Given the description of an element on the screen output the (x, y) to click on. 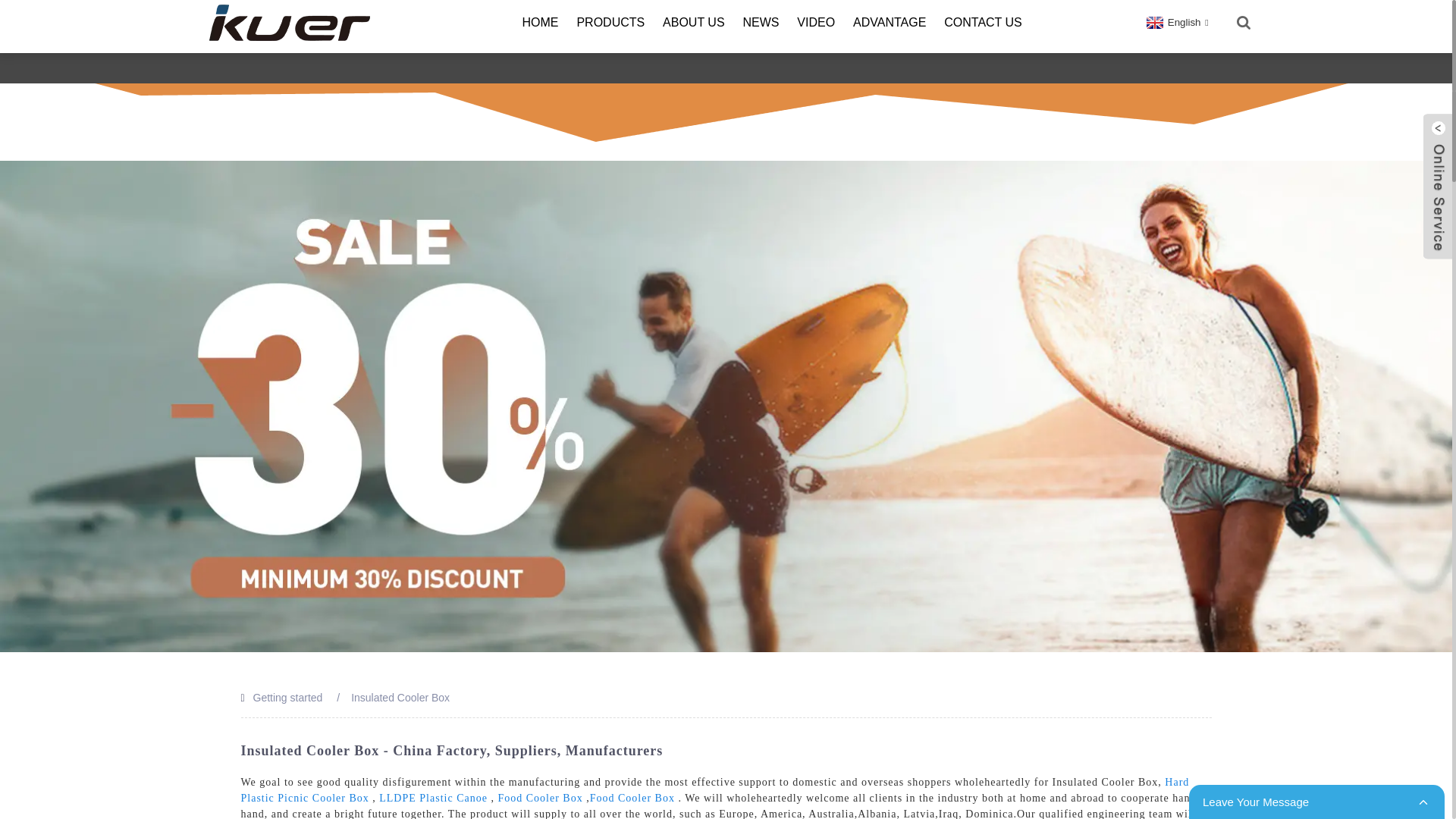
LLDPE Plastic Canoe (432, 797)
Hard Plastic Picnic Cooler Box (715, 789)
PRODUCTS (610, 22)
Food Cooler Box (632, 797)
Food Cooler Box (539, 797)
